Given the description of an element on the screen output the (x, y) to click on. 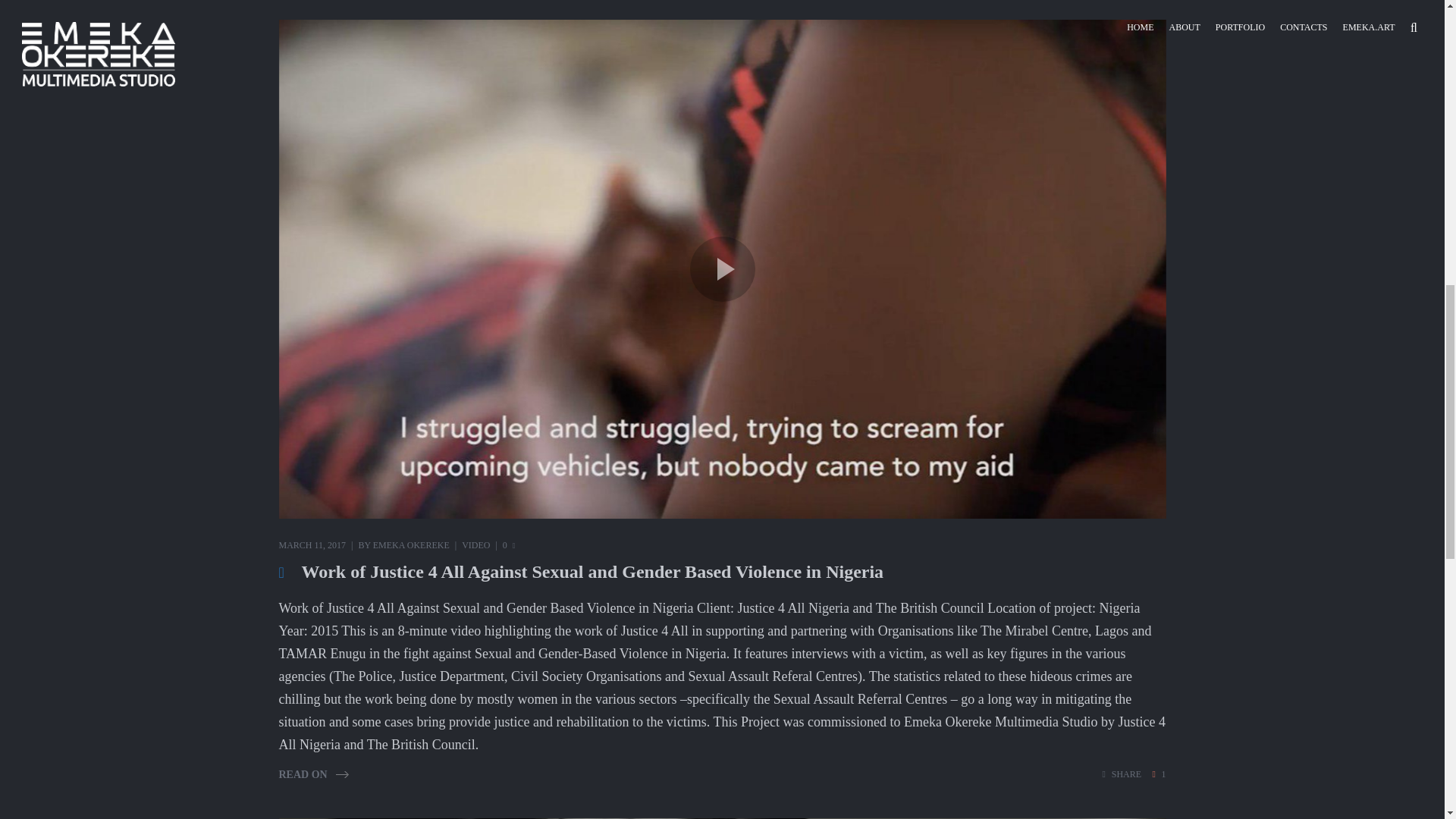
VIDEO (475, 544)
EMEKA OKEREKE (410, 544)
READ ON (314, 774)
SHARE (1121, 774)
Play Video (722, 269)
0 (508, 544)
